Given the description of an element on the screen output the (x, y) to click on. 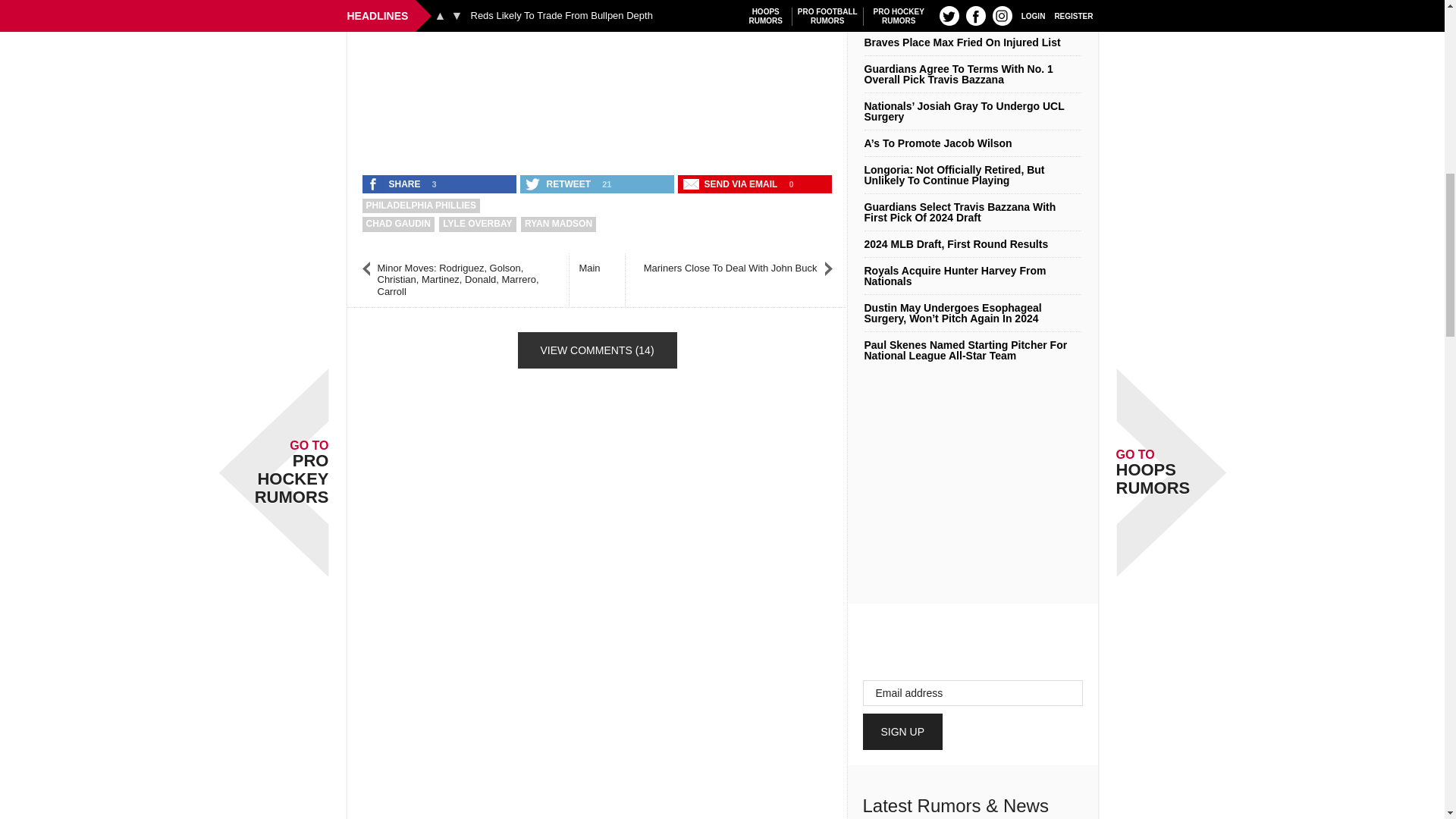
Sign Up (903, 731)
